Given the description of an element on the screen output the (x, y) to click on. 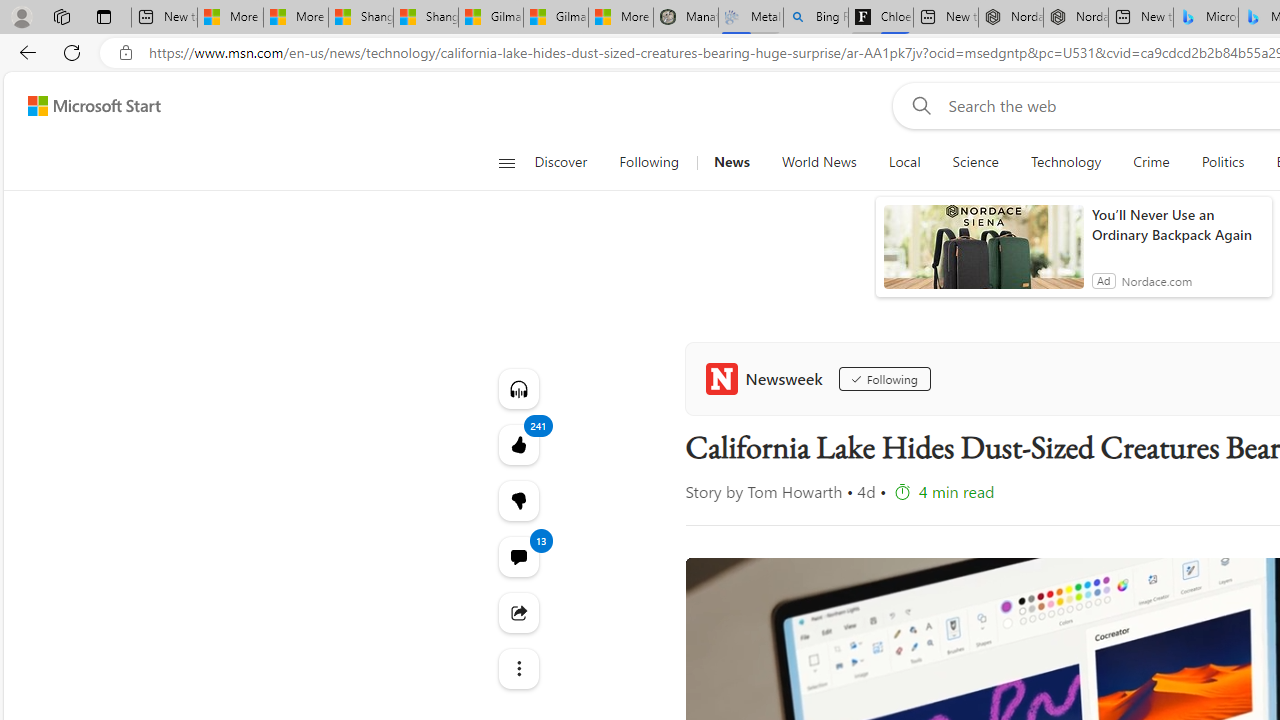
Crime (1150, 162)
Crime (1151, 162)
More like this241Fewer like thisView comments (517, 500)
View comments 13 Comment (517, 556)
Technology (1065, 162)
Share this story (517, 612)
anim-content (983, 255)
